Given the description of an element on the screen output the (x, y) to click on. 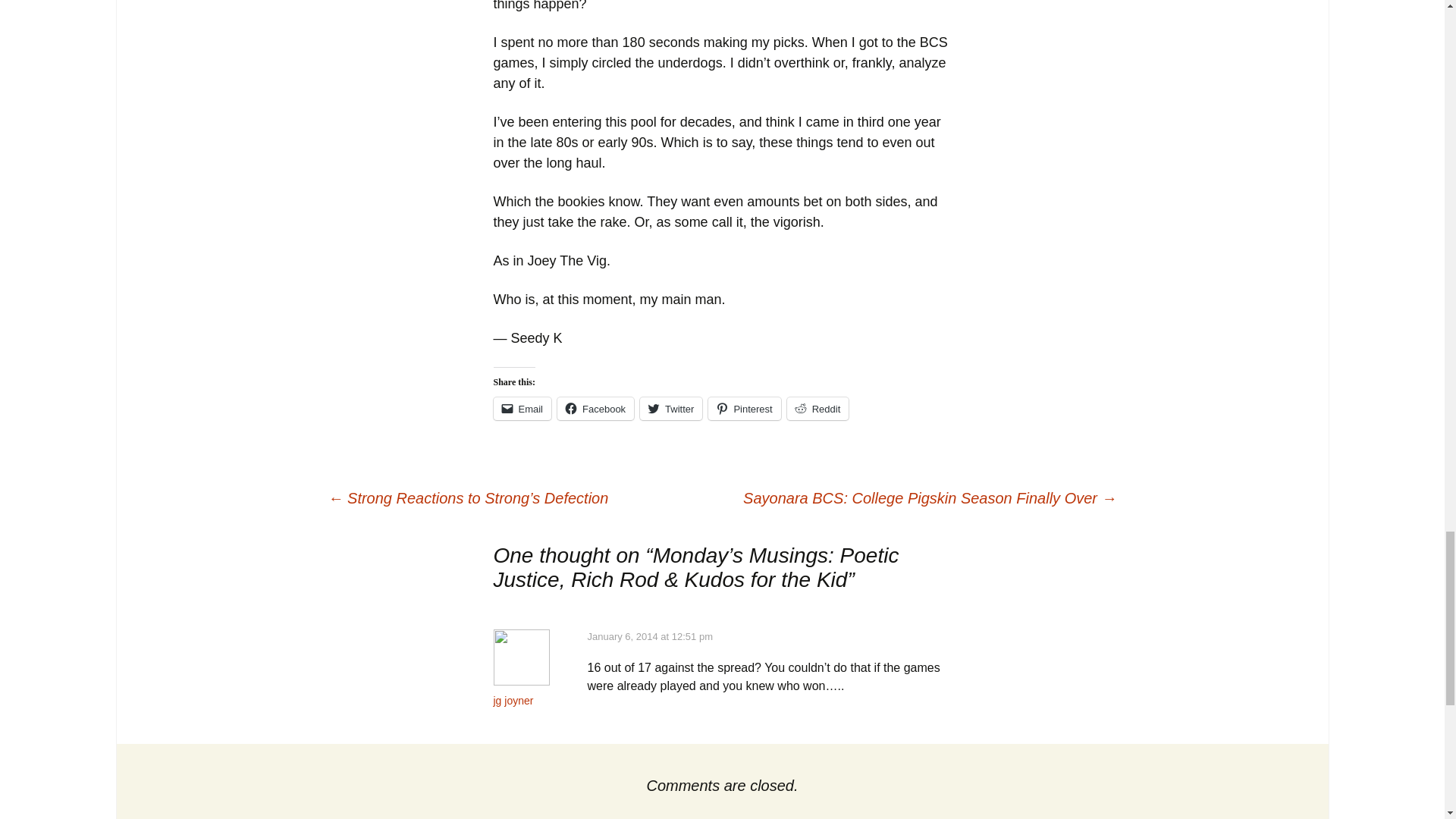
Reddit (817, 408)
Twitter (670, 408)
Click to share on Reddit (817, 408)
Pinterest (743, 408)
January 6, 2014 at 12:51 pm (649, 636)
Email (522, 408)
Click to email a link to a friend (522, 408)
Click to share on Twitter (670, 408)
Click to share on Pinterest (743, 408)
Click to share on Facebook (595, 408)
Facebook (595, 408)
